Given the description of an element on the screen output the (x, y) to click on. 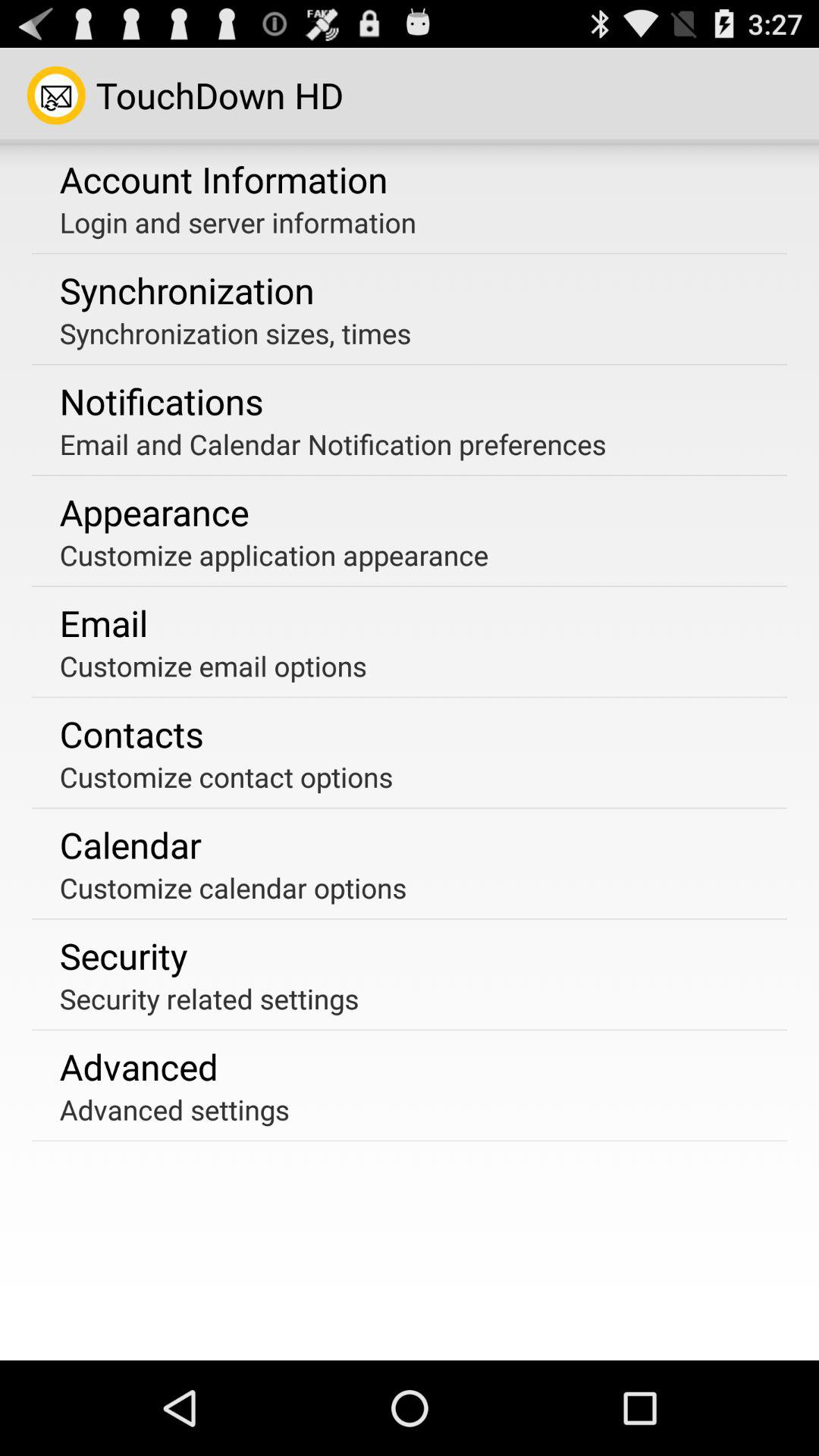
select the item below notifications icon (332, 443)
